Given the description of an element on the screen output the (x, y) to click on. 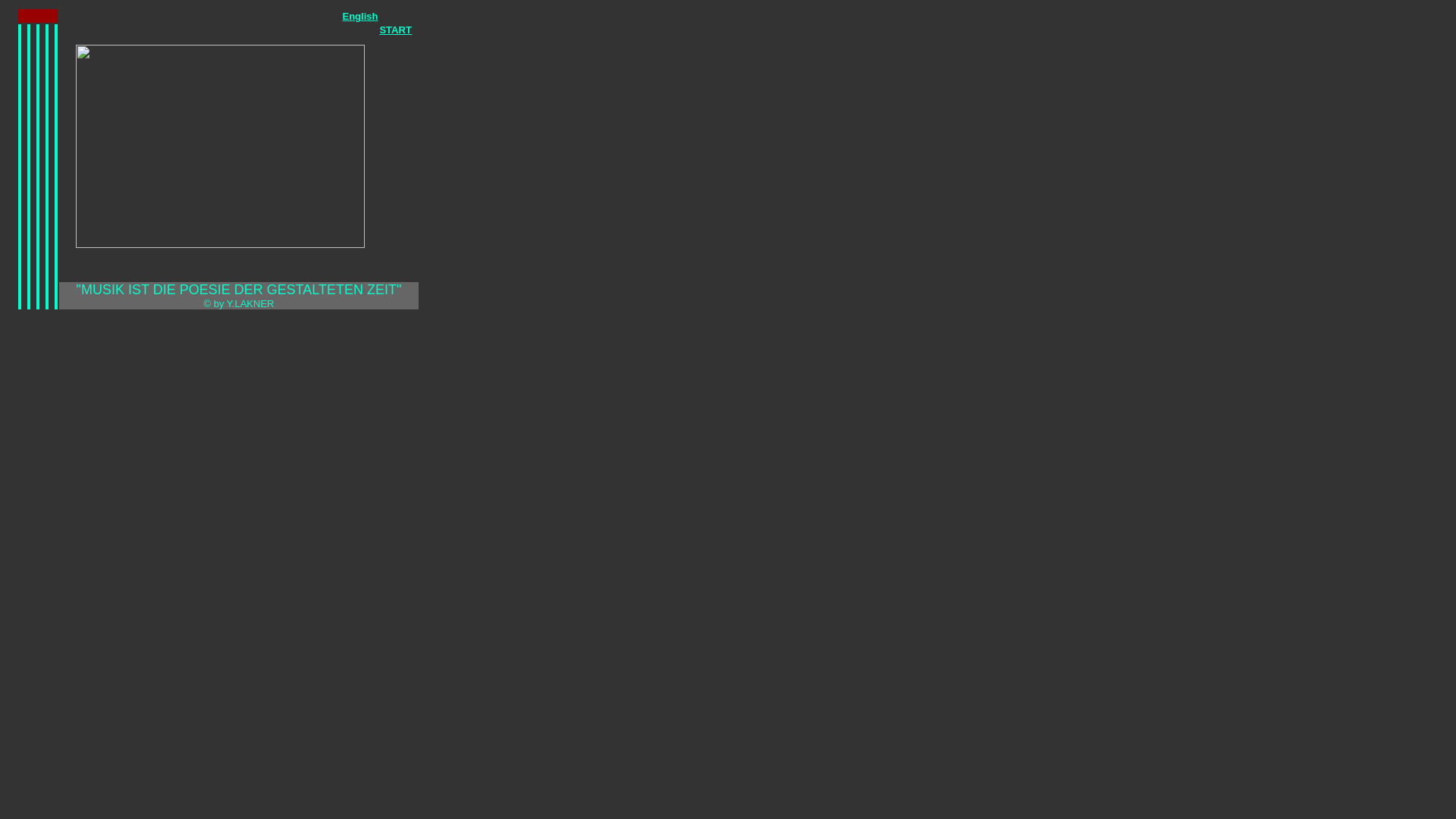
English Element type: text (360, 15)
START Element type: text (395, 29)
